Given the description of an element on the screen output the (x, y) to click on. 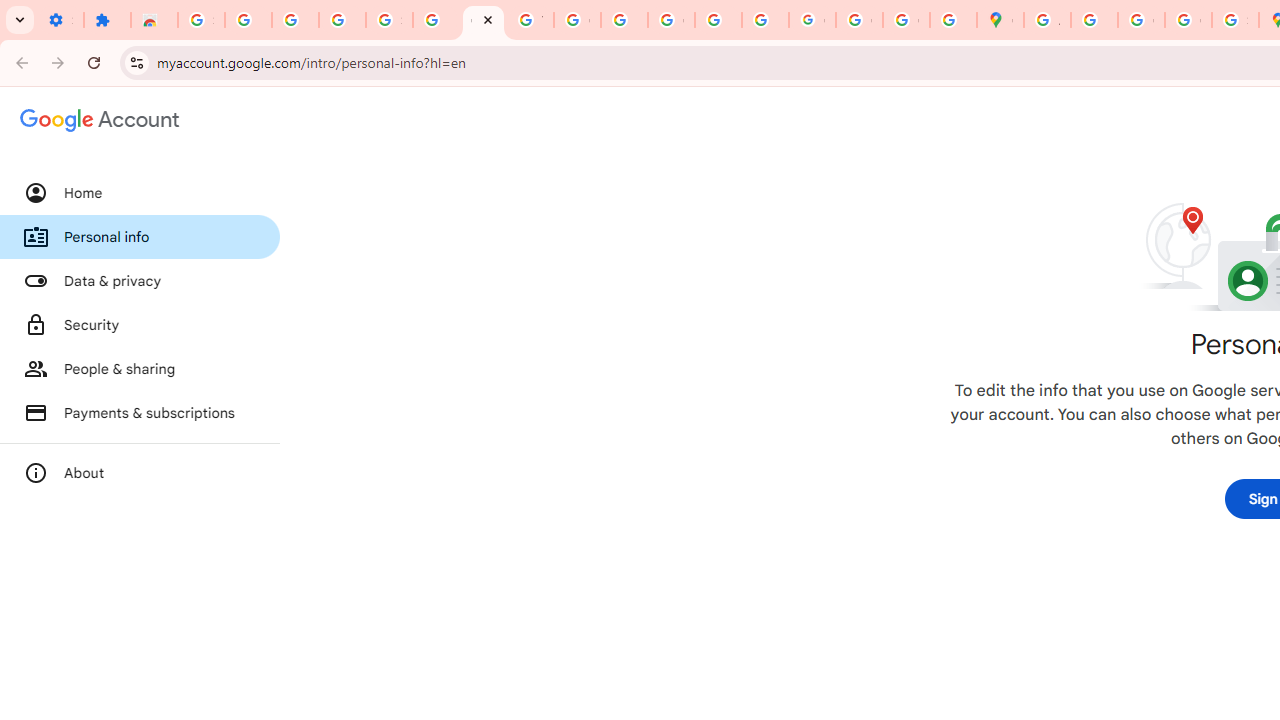
People & sharing (140, 368)
Google Maps (999, 20)
Google Account settings (100, 120)
More information about the Google Account (140, 472)
